Given the description of an element on the screen output the (x, y) to click on. 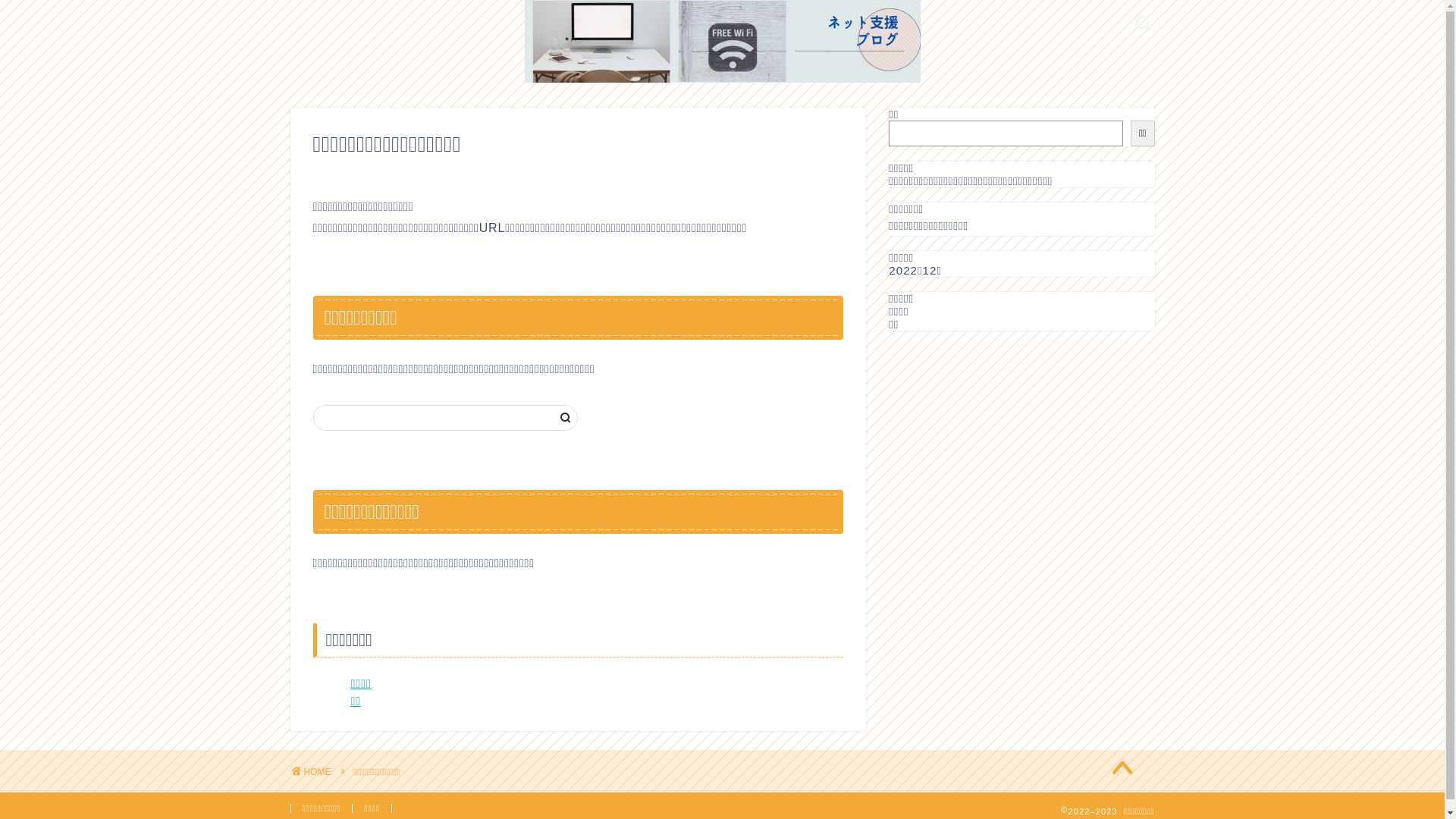
HOME Element type: text (310, 771)
